Given the description of an element on the screen output the (x, y) to click on. 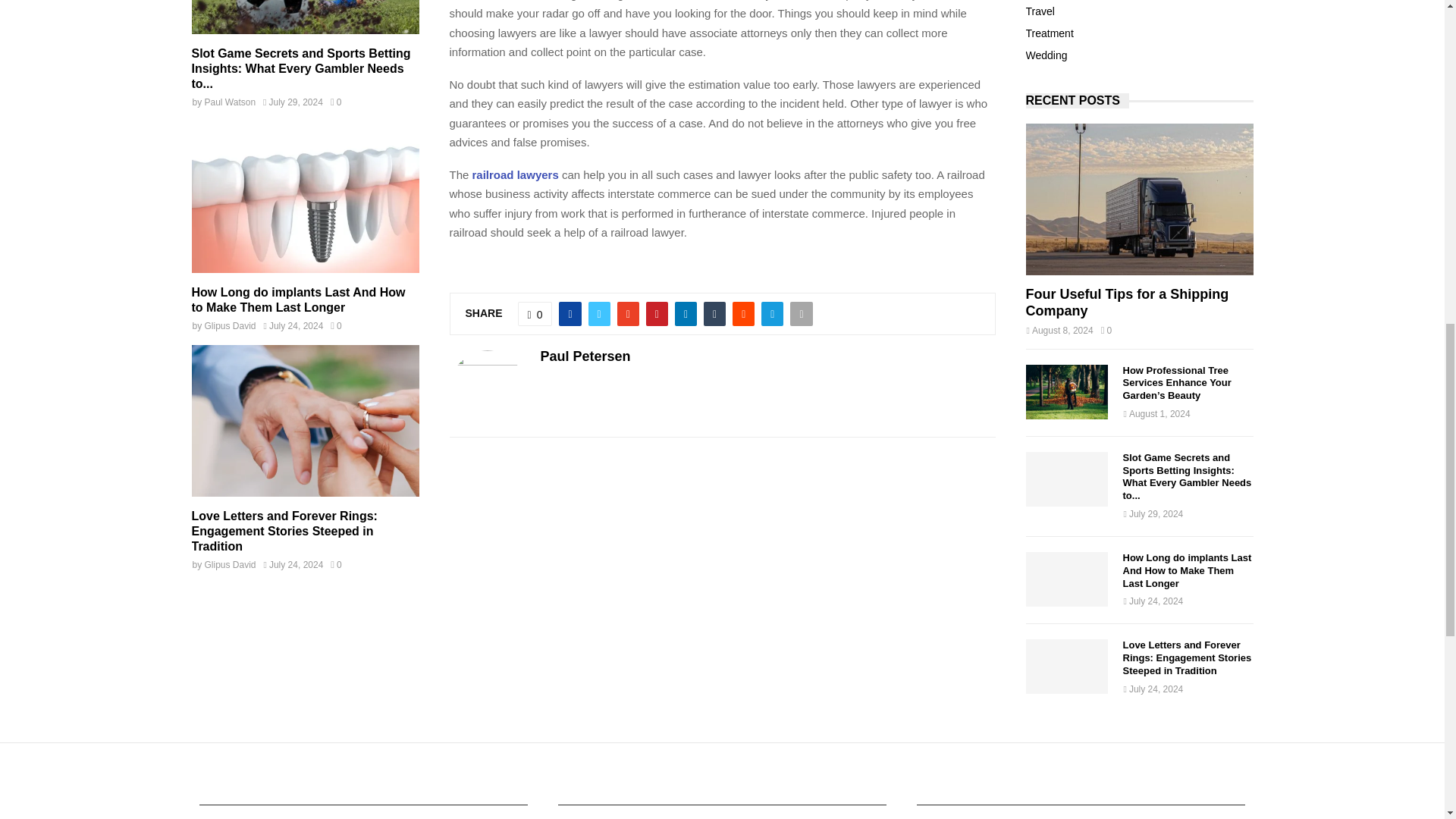
railroad lawyers (515, 174)
Posts by Paul Petersen (585, 356)
Like (535, 313)
Paul Petersen (585, 356)
0 (535, 313)
